Given the description of an element on the screen output the (x, y) to click on. 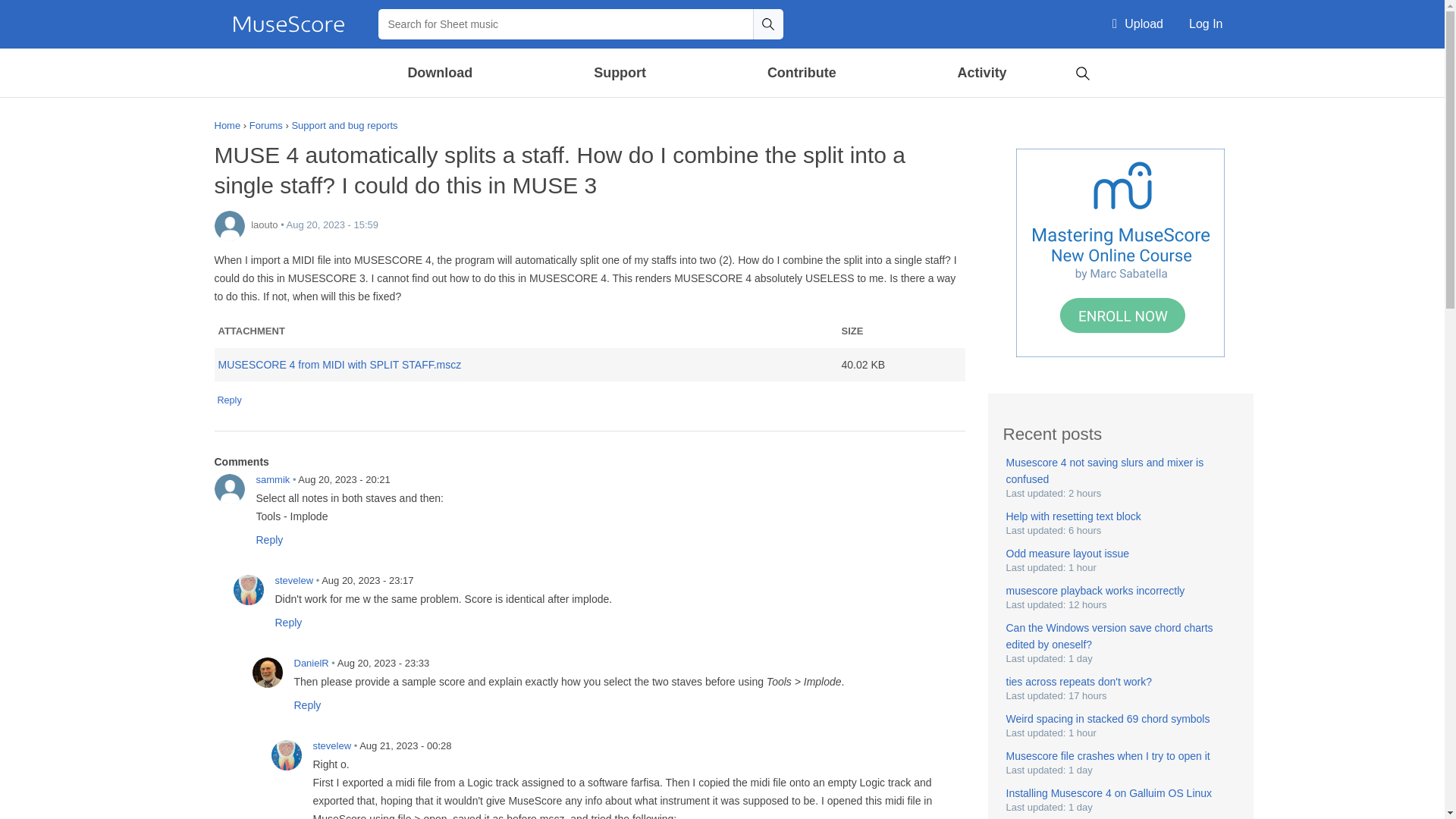
Download (440, 72)
Search (767, 24)
Log In (1205, 24)
MuseScore (287, 23)
sammik (229, 489)
stevelew (285, 755)
Contribute (801, 72)
Home (287, 23)
Search (767, 24)
